Given the description of an element on the screen output the (x, y) to click on. 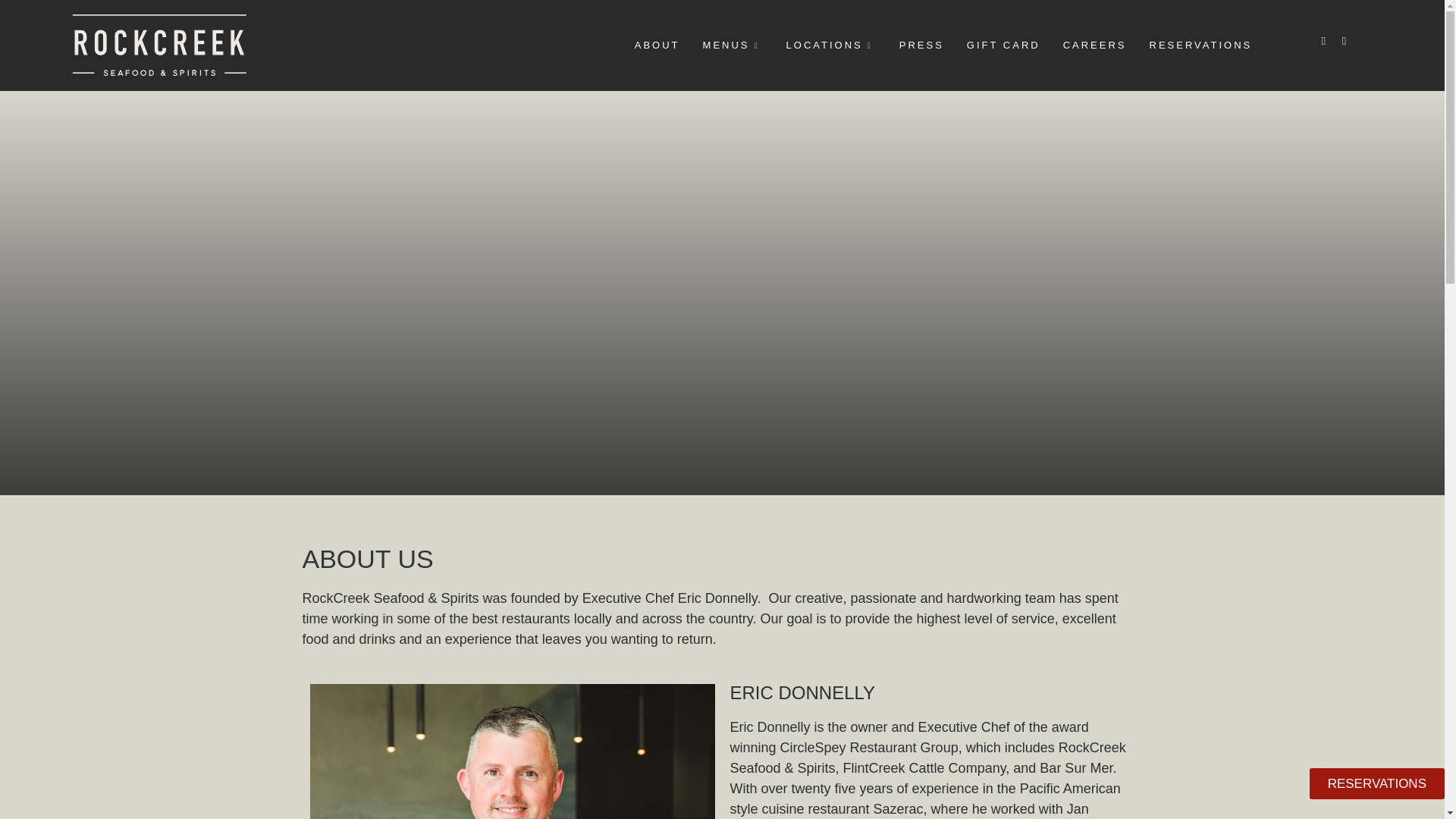
logo (159, 45)
RESERVATIONS (1204, 45)
LOCATIONS (834, 45)
GIFT CARD (1007, 45)
MENUS (736, 45)
CAREERS (1098, 45)
